Given the description of an element on the screen output the (x, y) to click on. 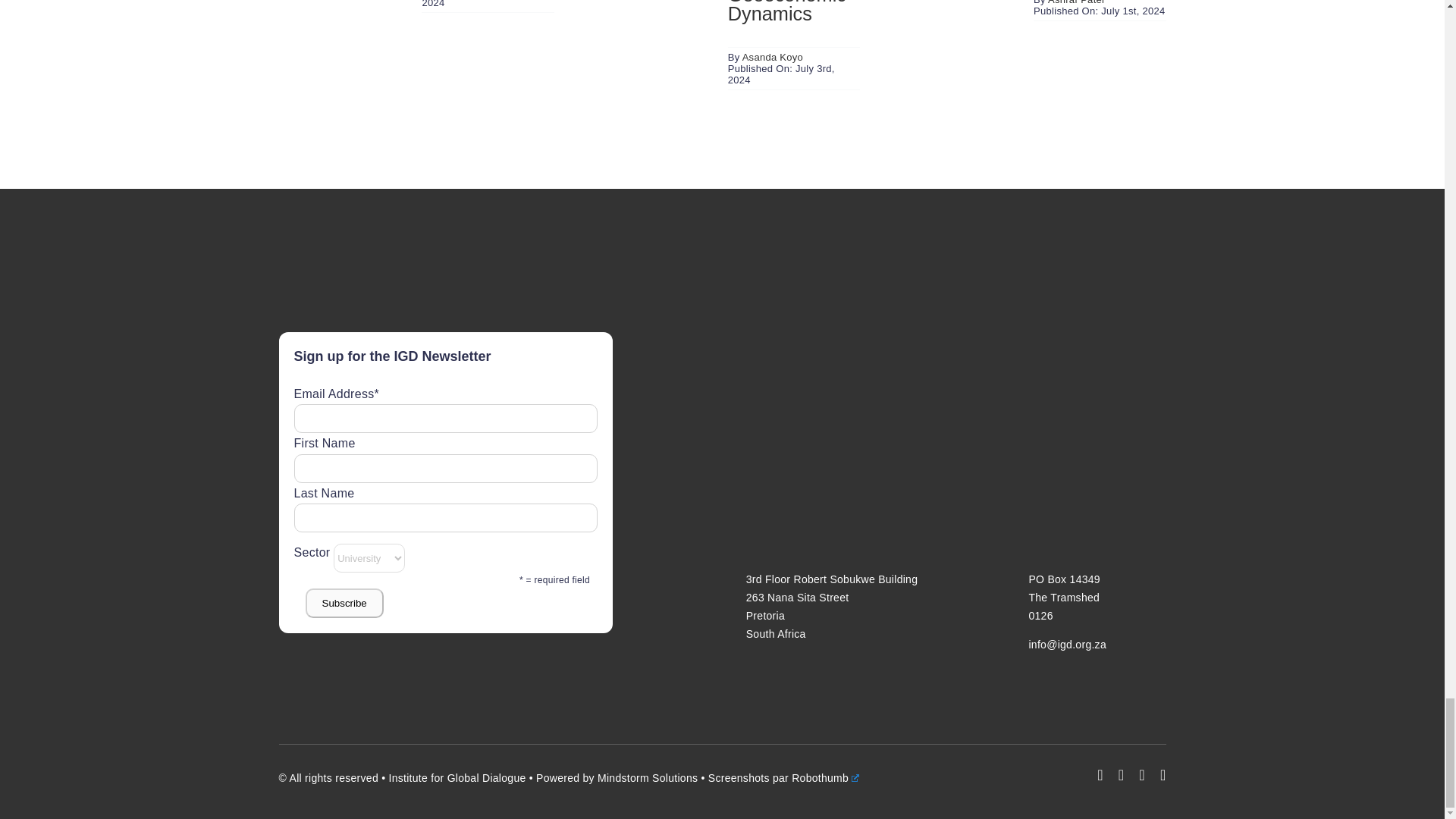
Subscribe (343, 603)
